Given the description of an element on the screen output the (x, y) to click on. 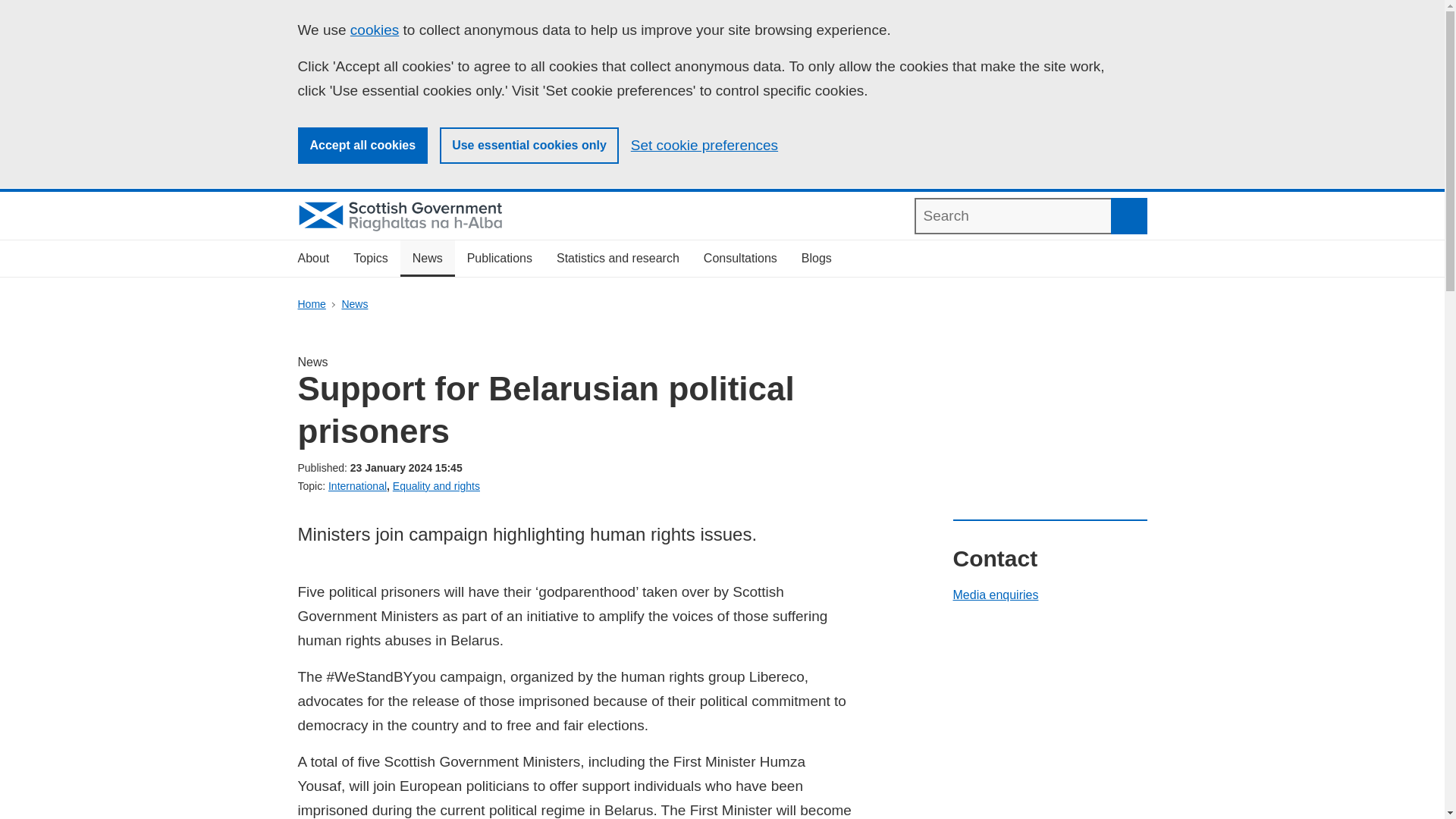
Home (310, 304)
Statistics and research (617, 258)
About (312, 258)
Publications (499, 258)
Topics (369, 258)
Media enquiries (995, 594)
Blogs (816, 258)
News (427, 258)
Equality and rights (436, 485)
Consultations (740, 258)
Accept all cookies (362, 145)
Use essential cookies only (528, 145)
Set cookie preferences (703, 145)
